Given the description of an element on the screen output the (x, y) to click on. 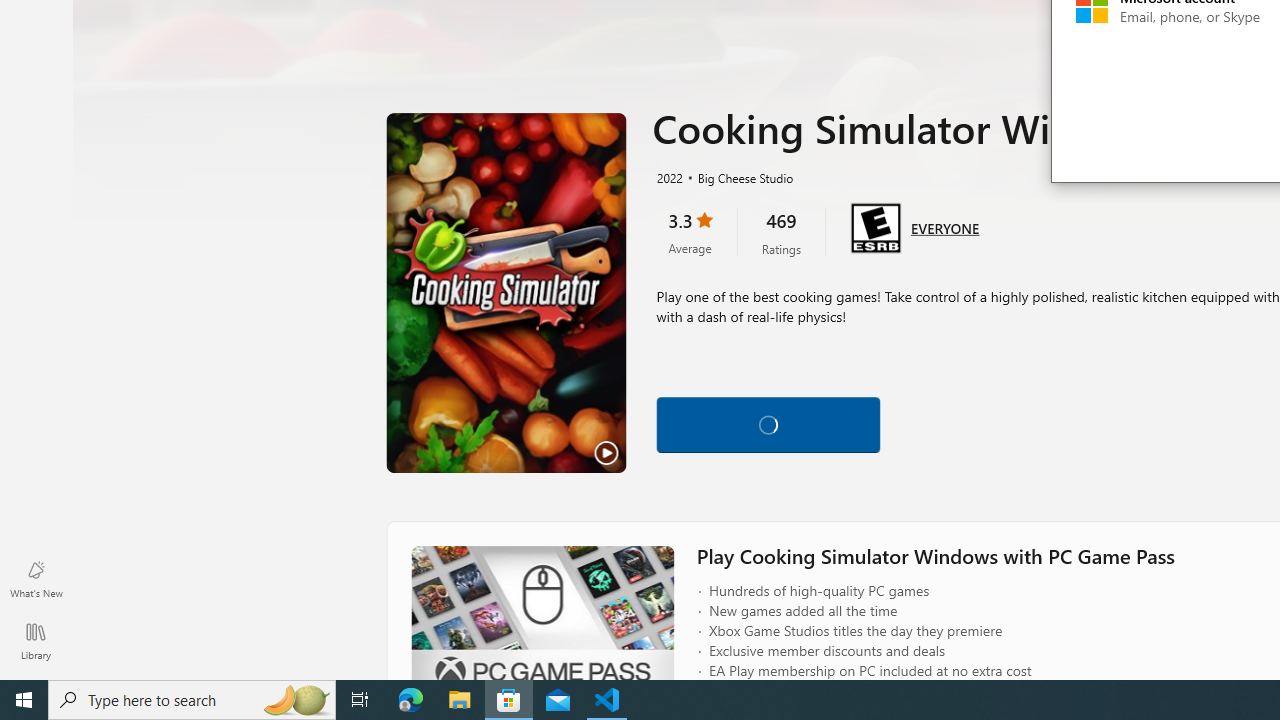
Microsoft Store - 1 running window (509, 699)
Age rating: EVERYONE. Click for more information. (945, 226)
2022 (667, 177)
